Given the description of an element on the screen output the (x, y) to click on. 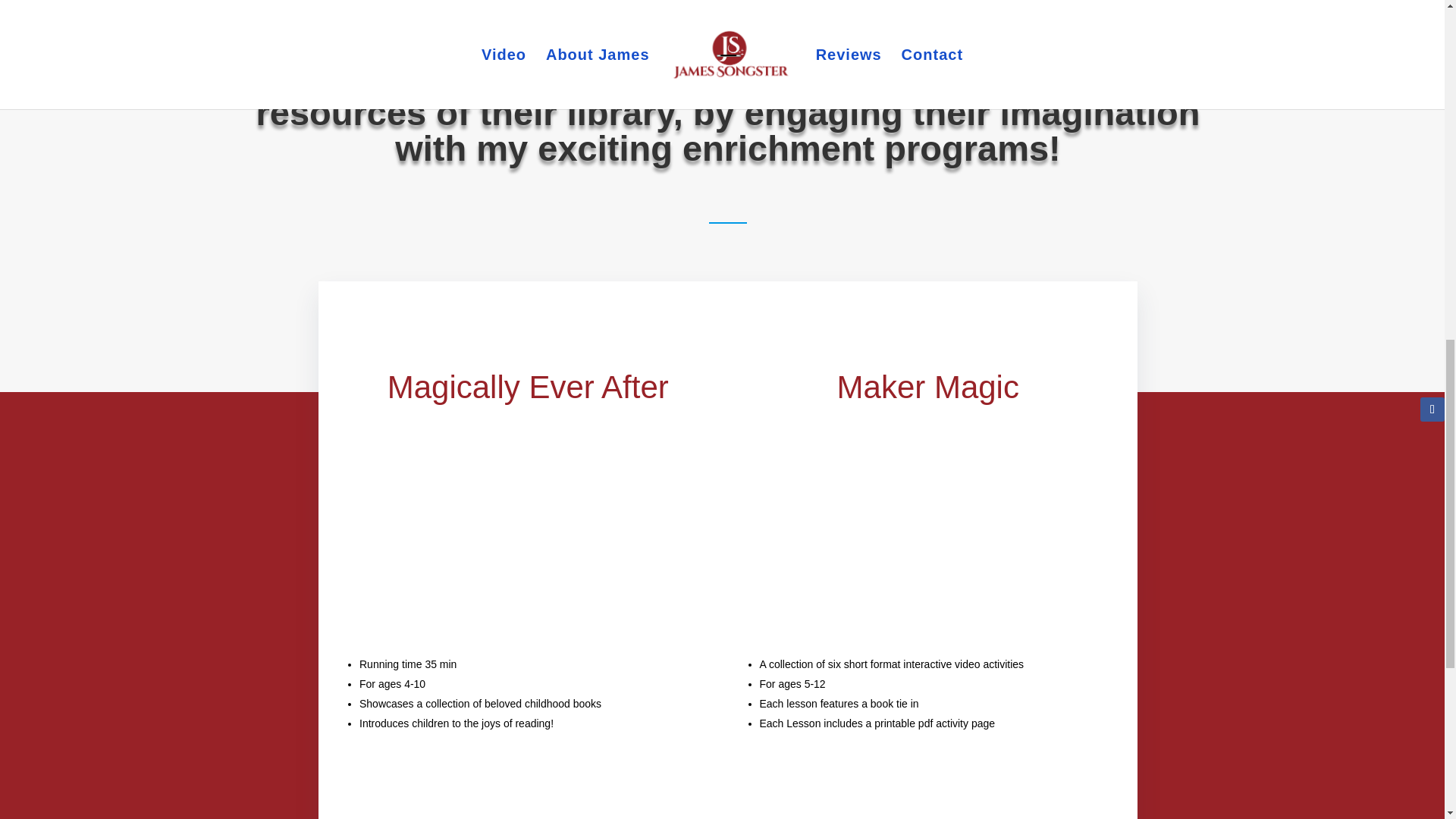
Magically Ever After - The Trailer - HD 720p (528, 532)
MAKER MAGIC - the Trailer (928, 532)
